Given the description of an element on the screen output the (x, y) to click on. 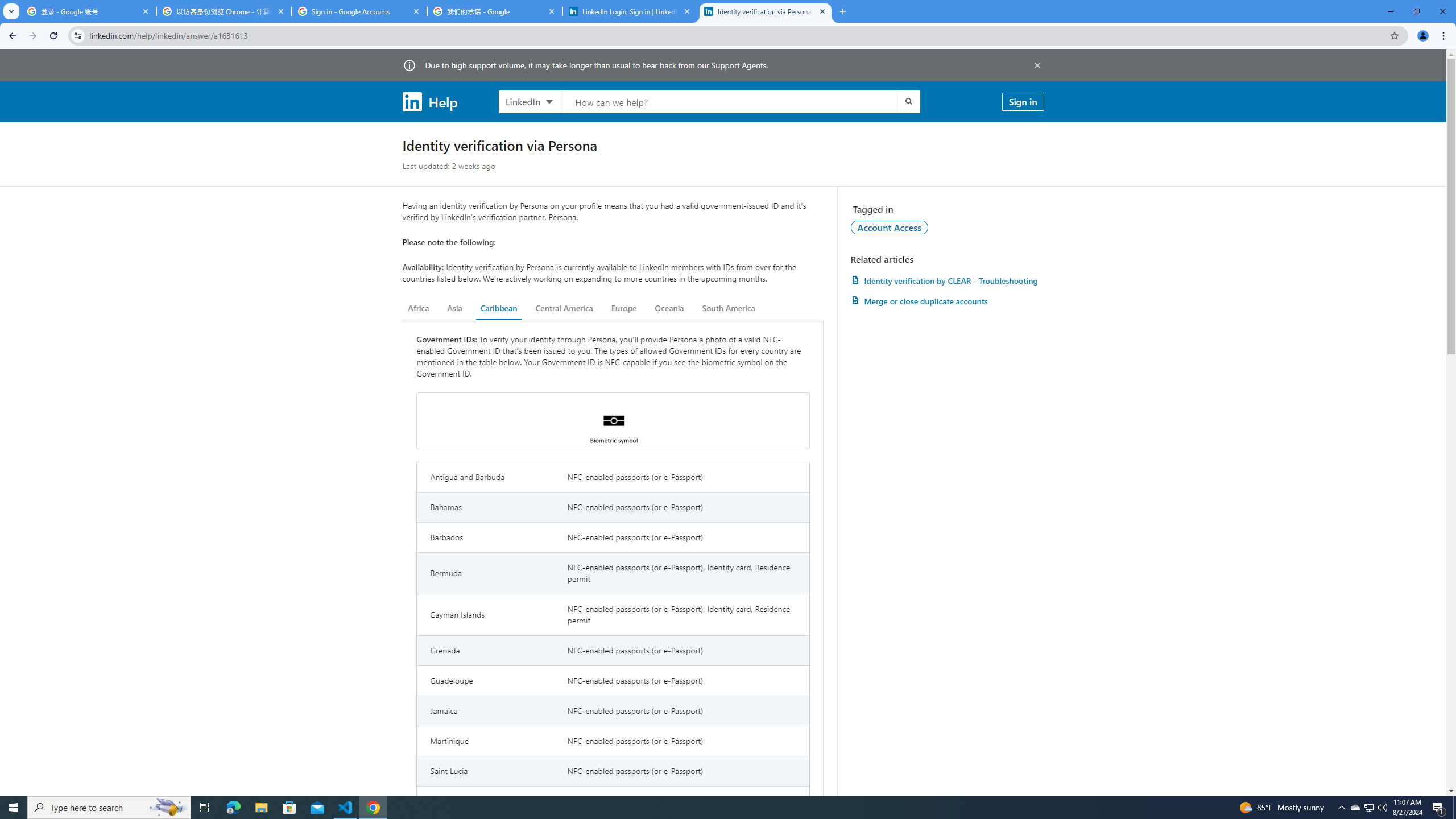
Caribbean (499, 308)
Account Access (889, 227)
Central America (563, 308)
Asia (454, 308)
Oceania (668, 308)
AutomationID: article-link-a1457505 (946, 280)
Europe (623, 308)
